Given the description of an element on the screen output the (x, y) to click on. 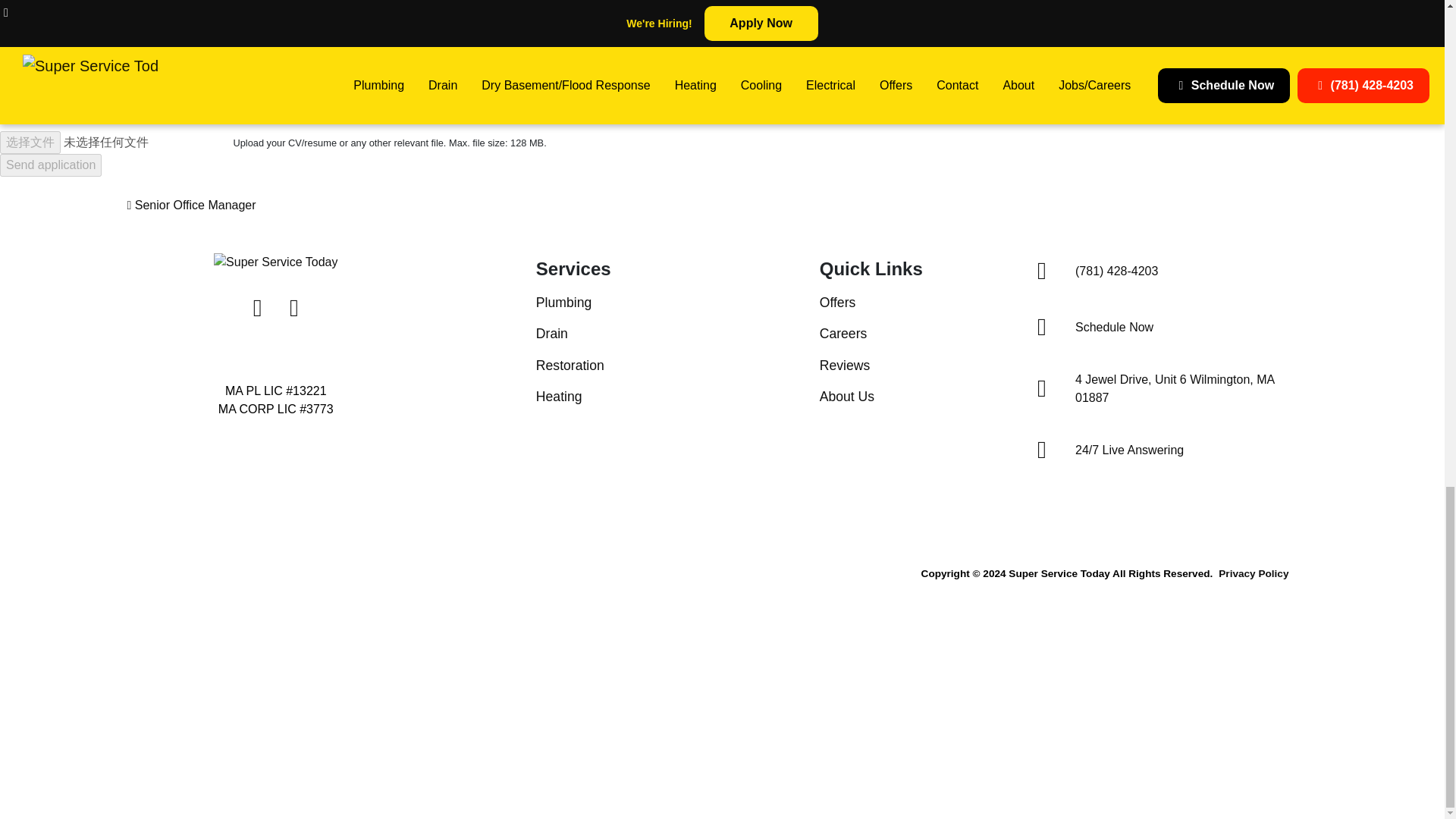
Send application (50, 164)
